Given the description of an element on the screen output the (x, y) to click on. 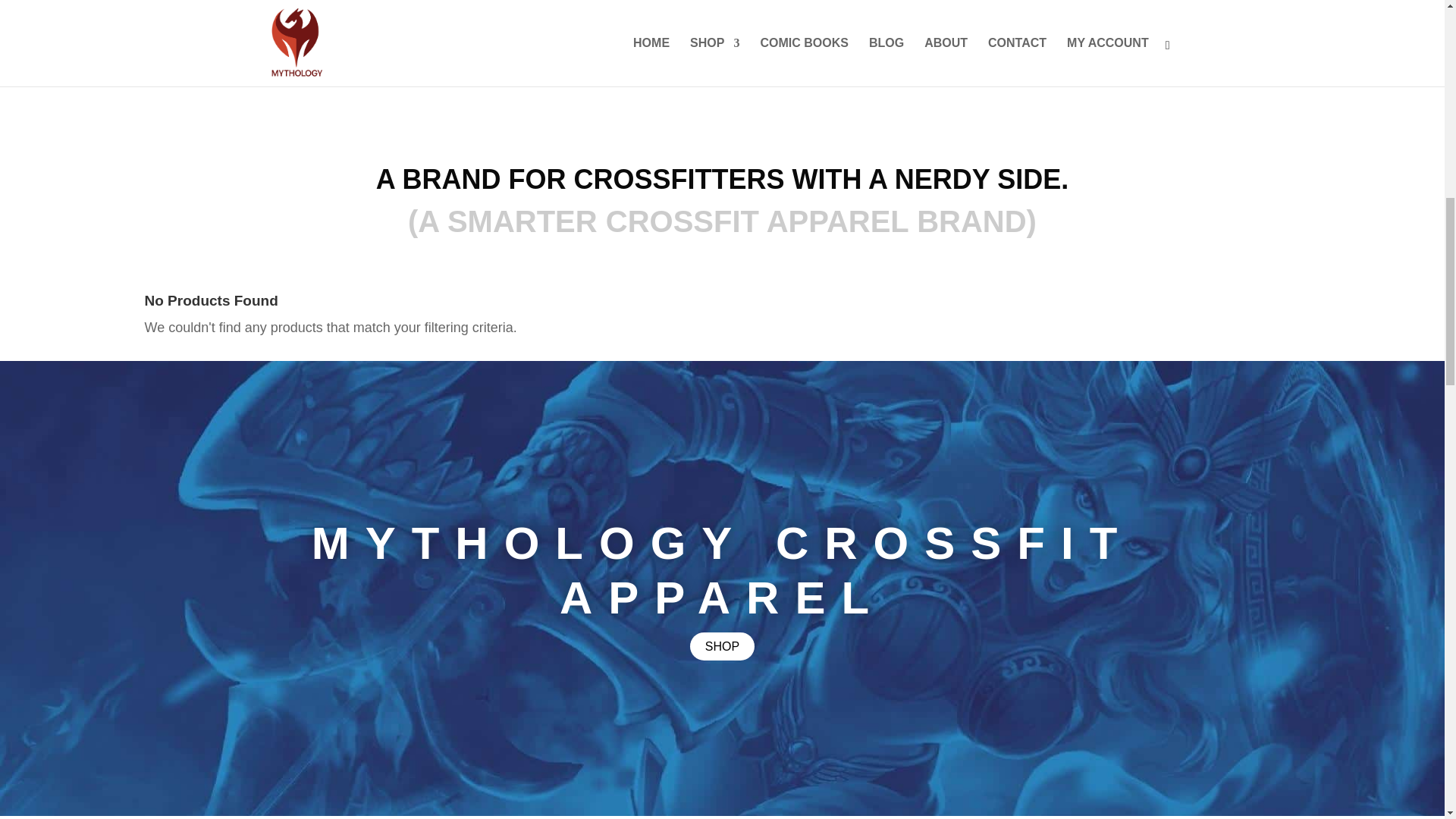
SHOP (722, 646)
